Given the description of an element on the screen output the (x, y) to click on. 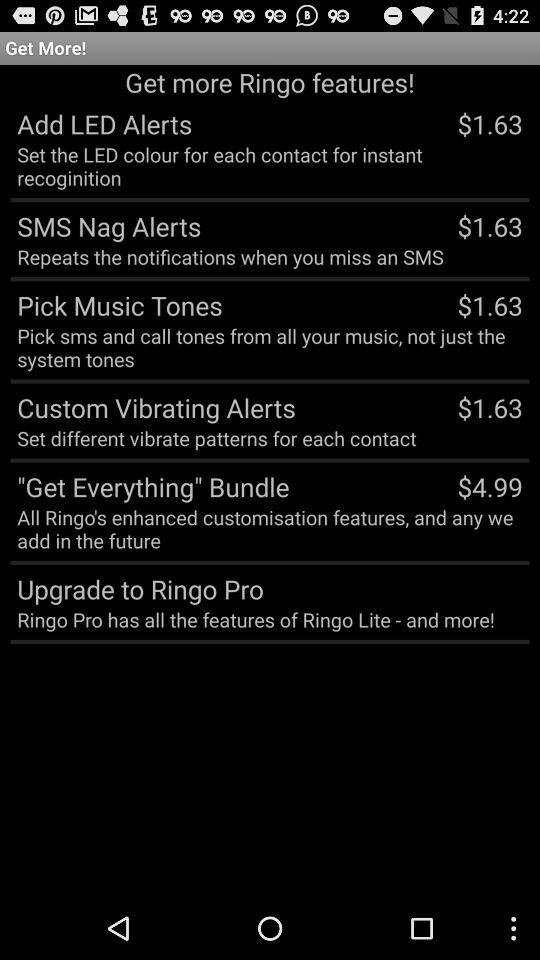
turn off app below $1.63 icon (489, 486)
